Given the description of an element on the screen output the (x, y) to click on. 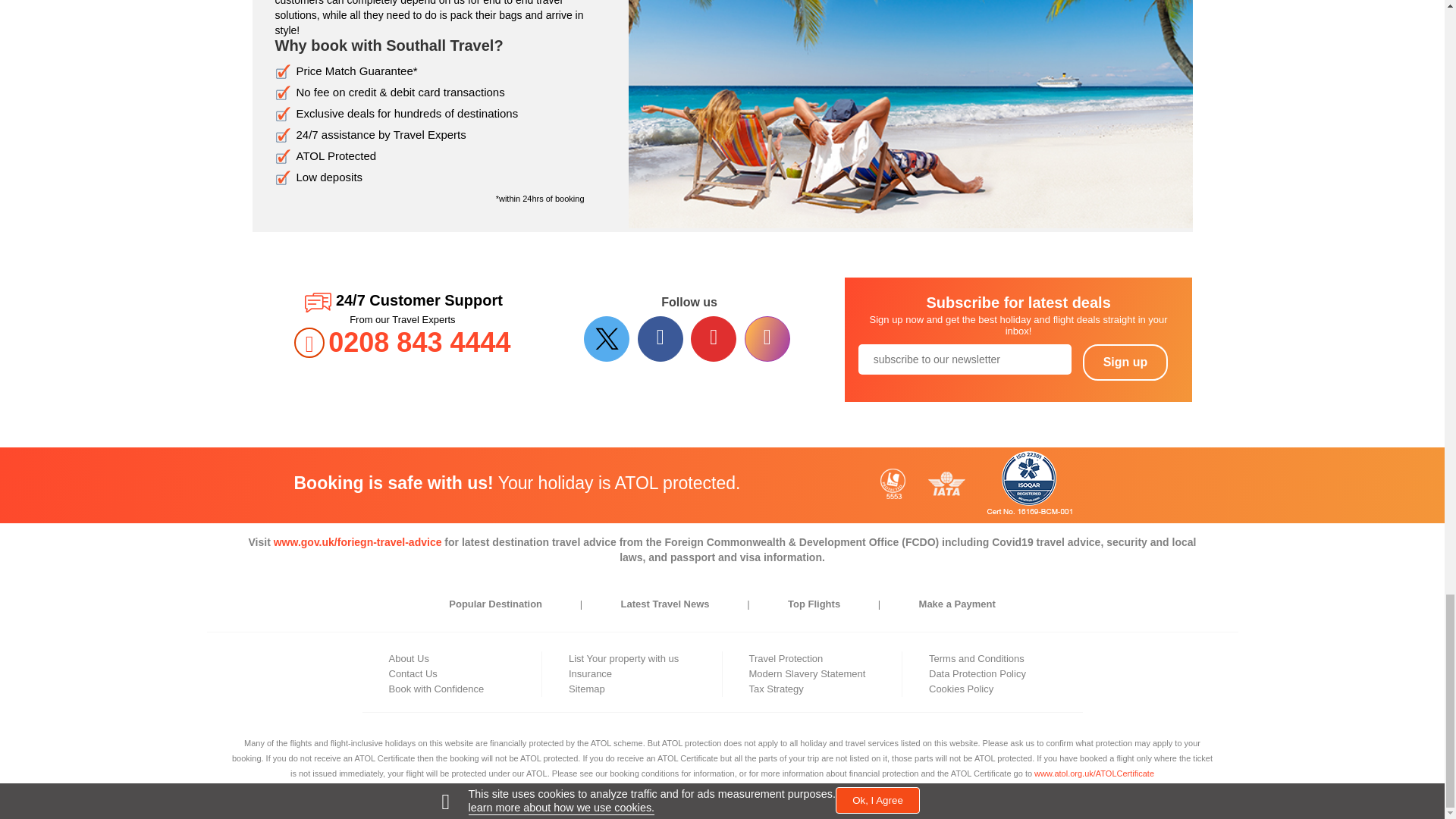
twitter (608, 338)
Sign up (1126, 361)
Why our customers love us (909, 113)
